Given the description of an element on the screen output the (x, y) to click on. 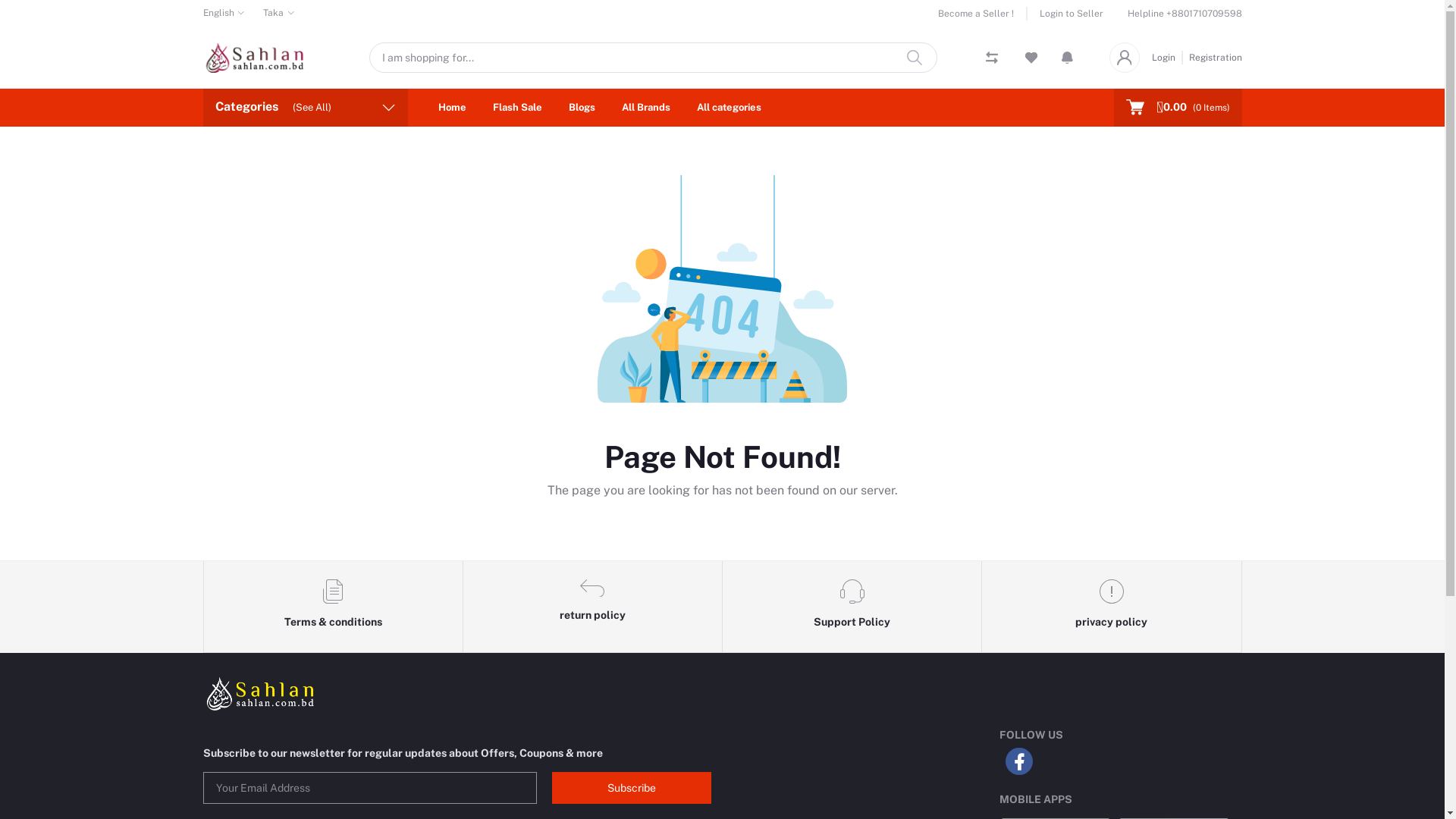
All categories Element type: text (728, 107)
Blogs Element type: text (581, 107)
Support Policy Element type: text (852, 607)
Terms & conditions Element type: text (332, 607)
Become a Seller ! Element type: text (981, 13)
Taka Element type: text (278, 12)
Login to Seller Element type: text (1064, 13)
(See All) Element type: text (311, 106)
privacy policy Element type: text (1111, 607)
Helpline +8801710709598 Element type: text (1183, 13)
Registration Element type: text (1212, 56)
Login Element type: text (1166, 56)
return policy Element type: text (592, 607)
Home Element type: text (452, 107)
Flash Sale Element type: text (517, 107)
Subscribe Element type: text (631, 787)
English Element type: text (224, 12)
All Brands Element type: text (645, 107)
